Given the description of an element on the screen output the (x, y) to click on. 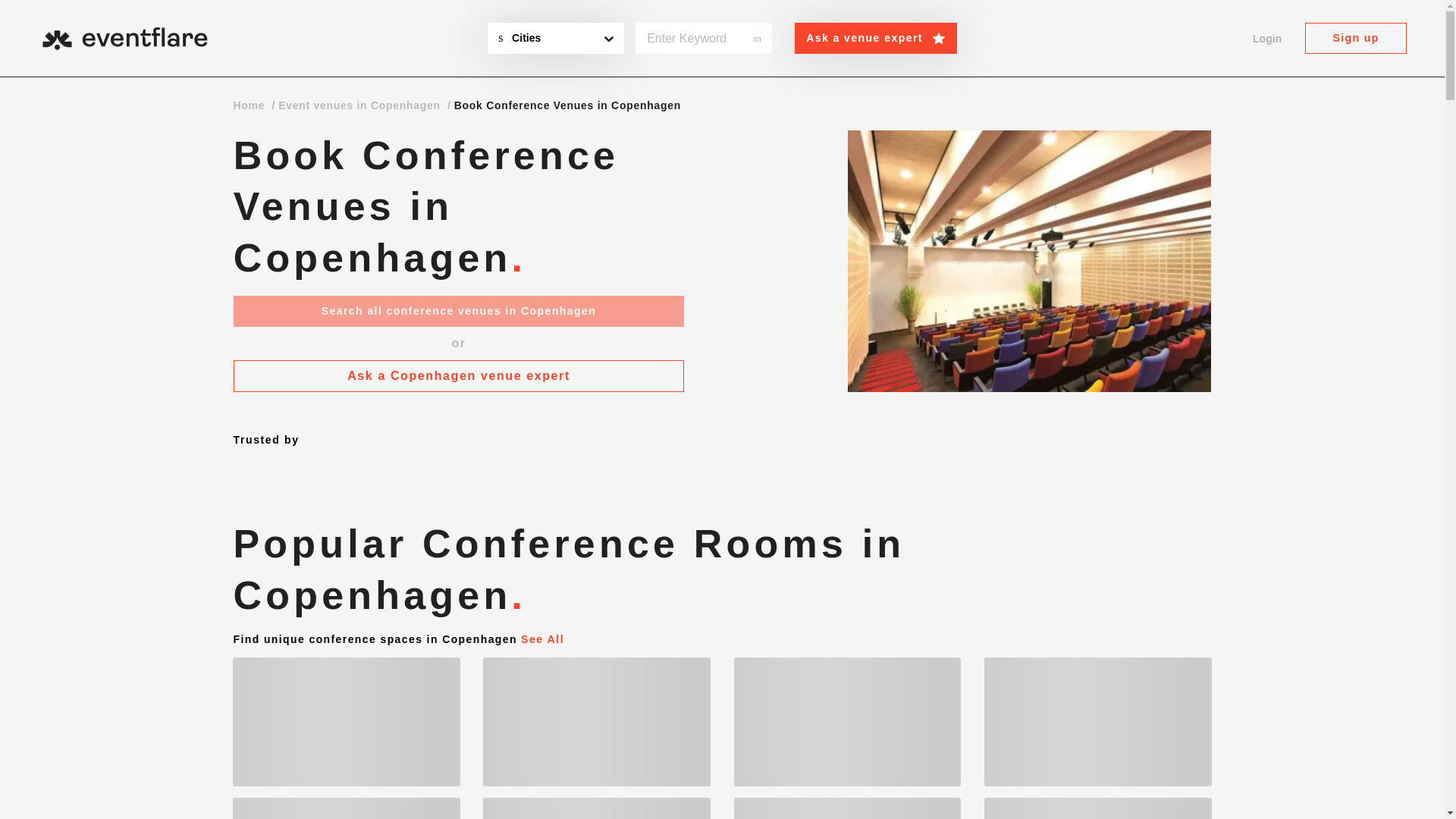
Event venues in Copenhagen (359, 105)
Home (248, 105)
Ask a venue expert (875, 38)
Sign up (1355, 38)
See All (542, 639)
Search all conference venues in Copenhagen (458, 310)
Login (1266, 38)
Ask a Copenhagen venue expert (458, 376)
